Given the description of an element on the screen output the (x, y) to click on. 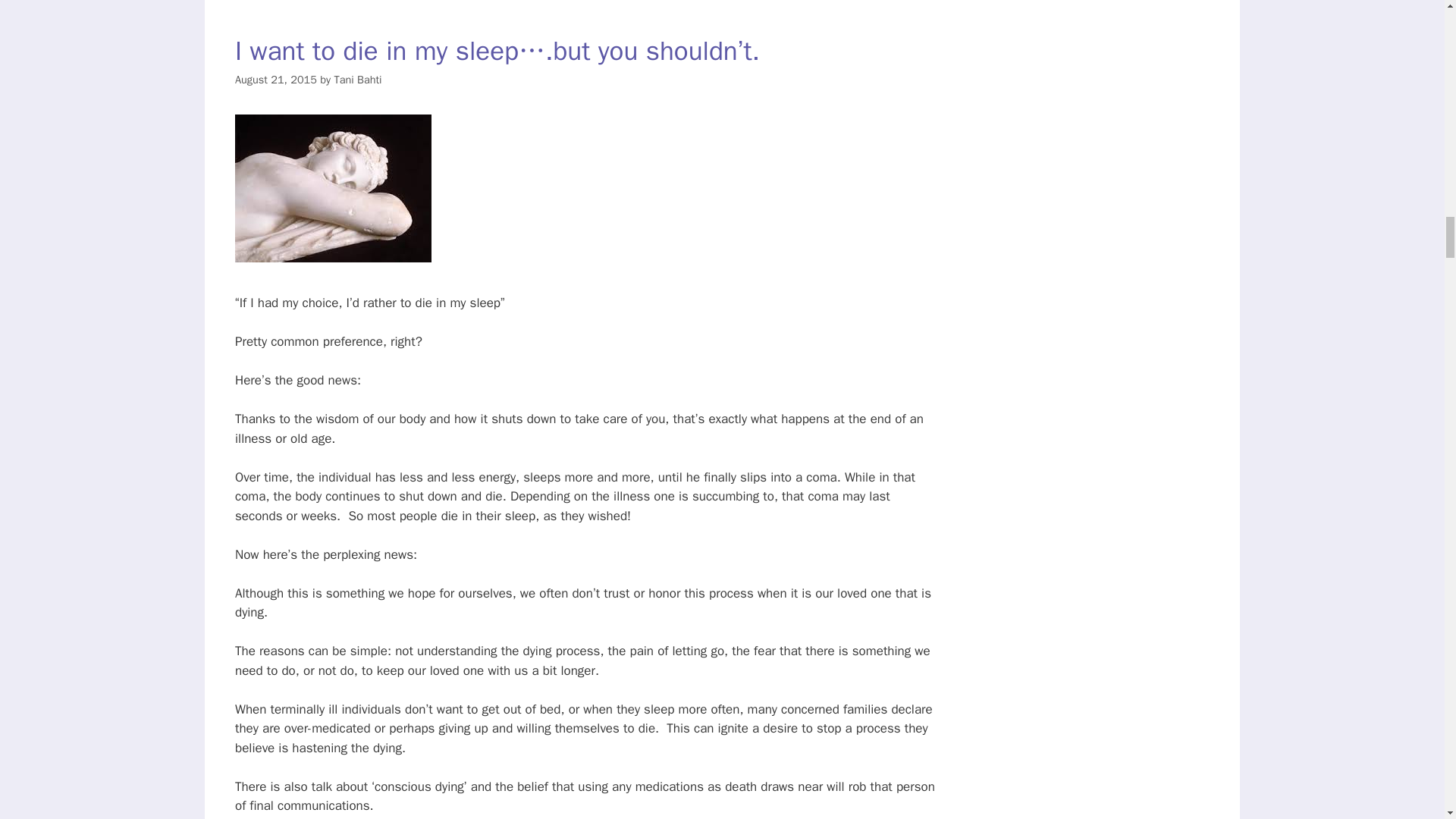
View all posts by Tani Bahti (357, 79)
Tani Bahti (357, 79)
